Given the description of an element on the screen output the (x, y) to click on. 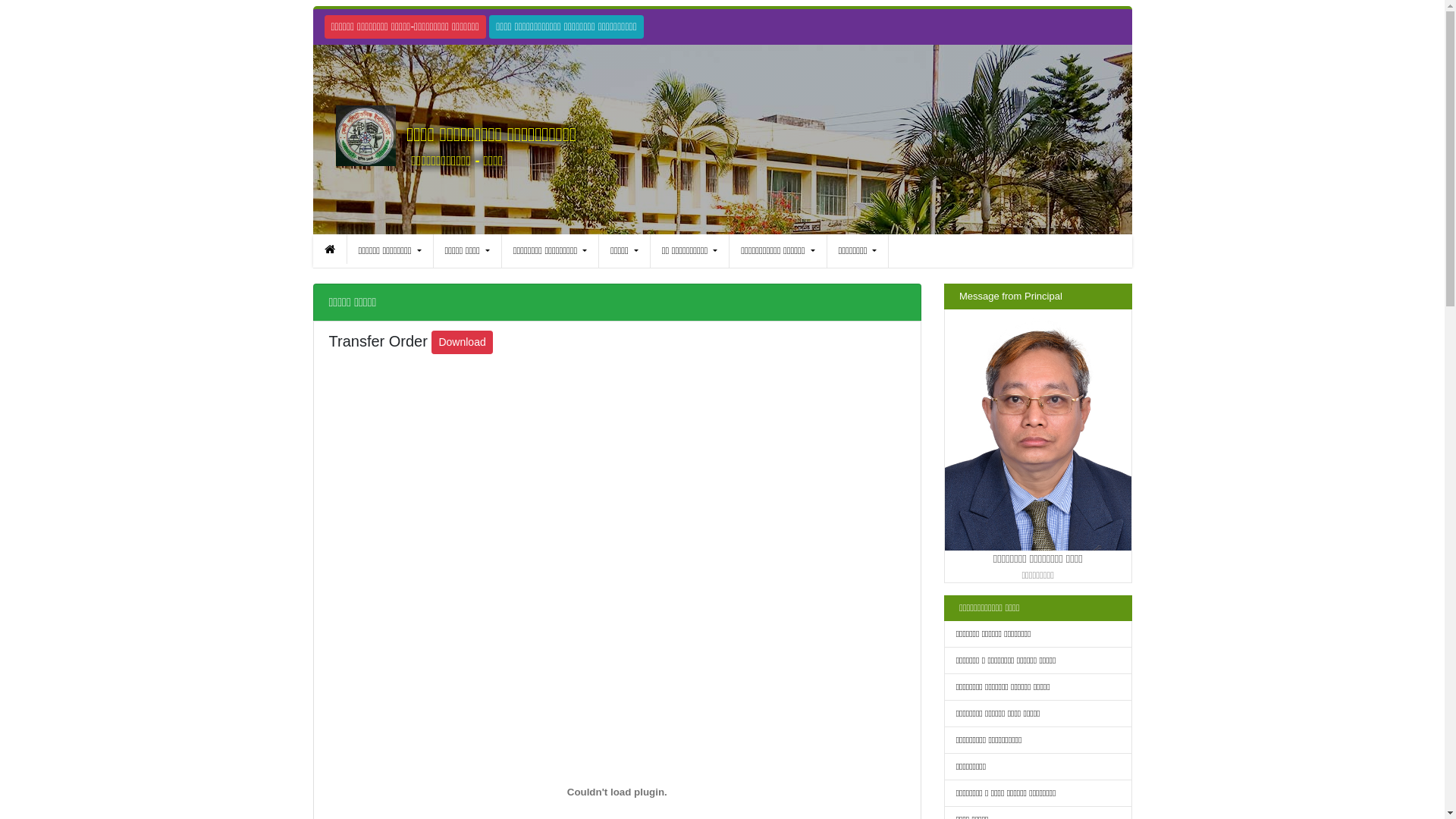
Download Element type: text (461, 342)
